Given the description of an element on the screen output the (x, y) to click on. 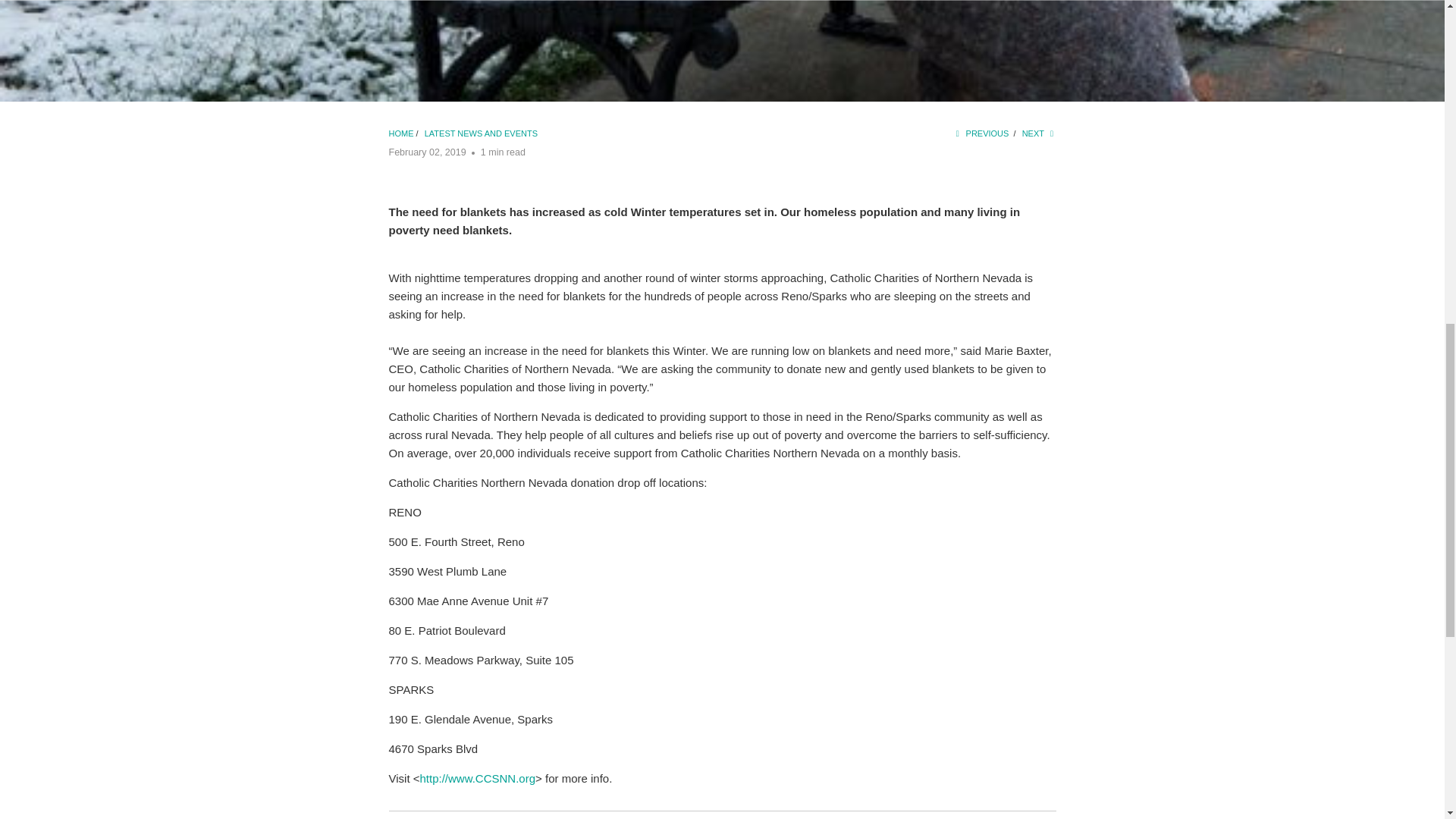
Latest News and Events (481, 133)
Catholic Charities of Northern Nevada (400, 133)
